Given the description of an element on the screen output the (x, y) to click on. 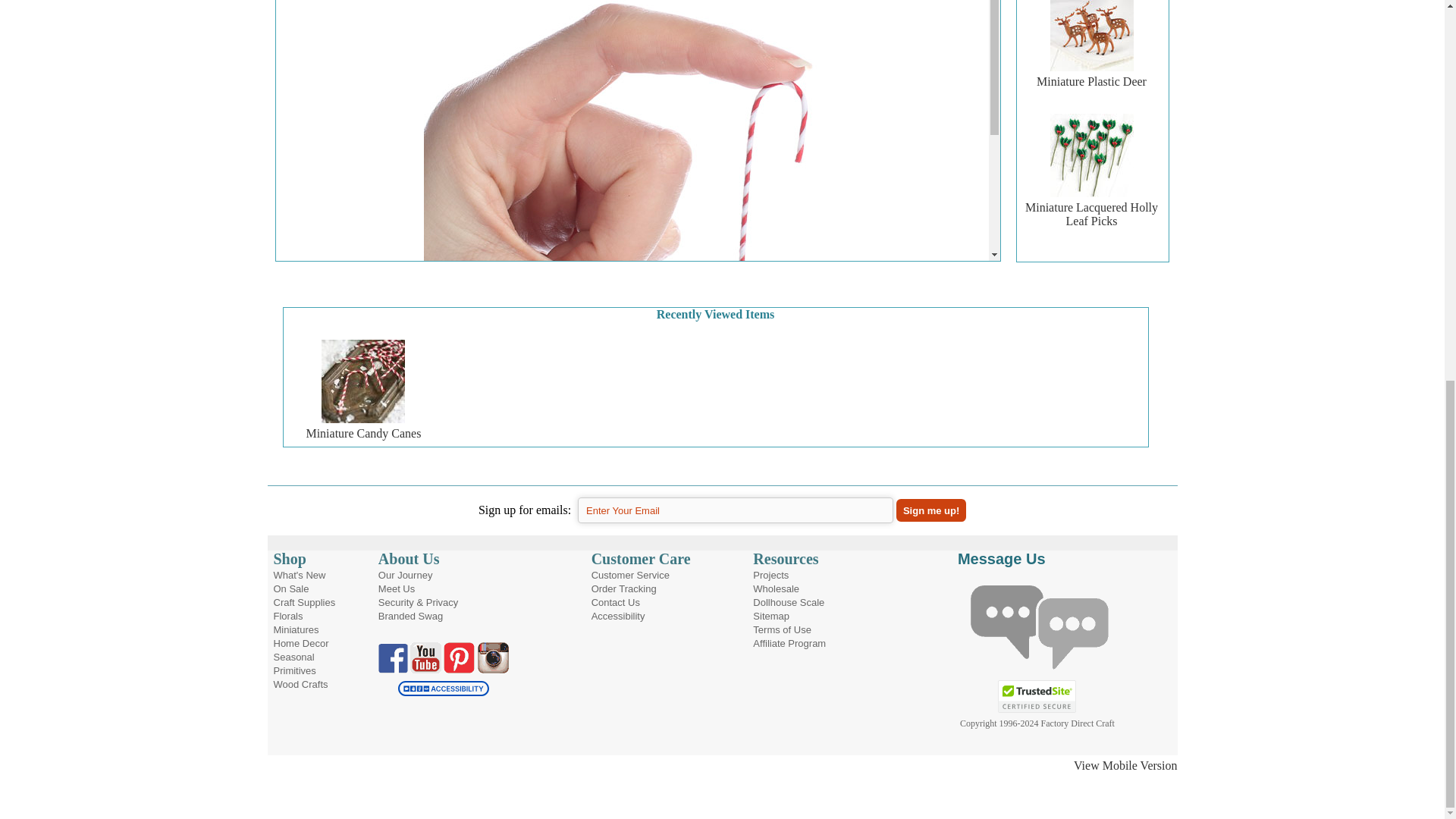
TrustedSite Certified (1037, 696)
Enter Your Email (735, 510)
Sign me up! (931, 509)
Launch Accessibility Center (443, 686)
